Given the description of an element on the screen output the (x, y) to click on. 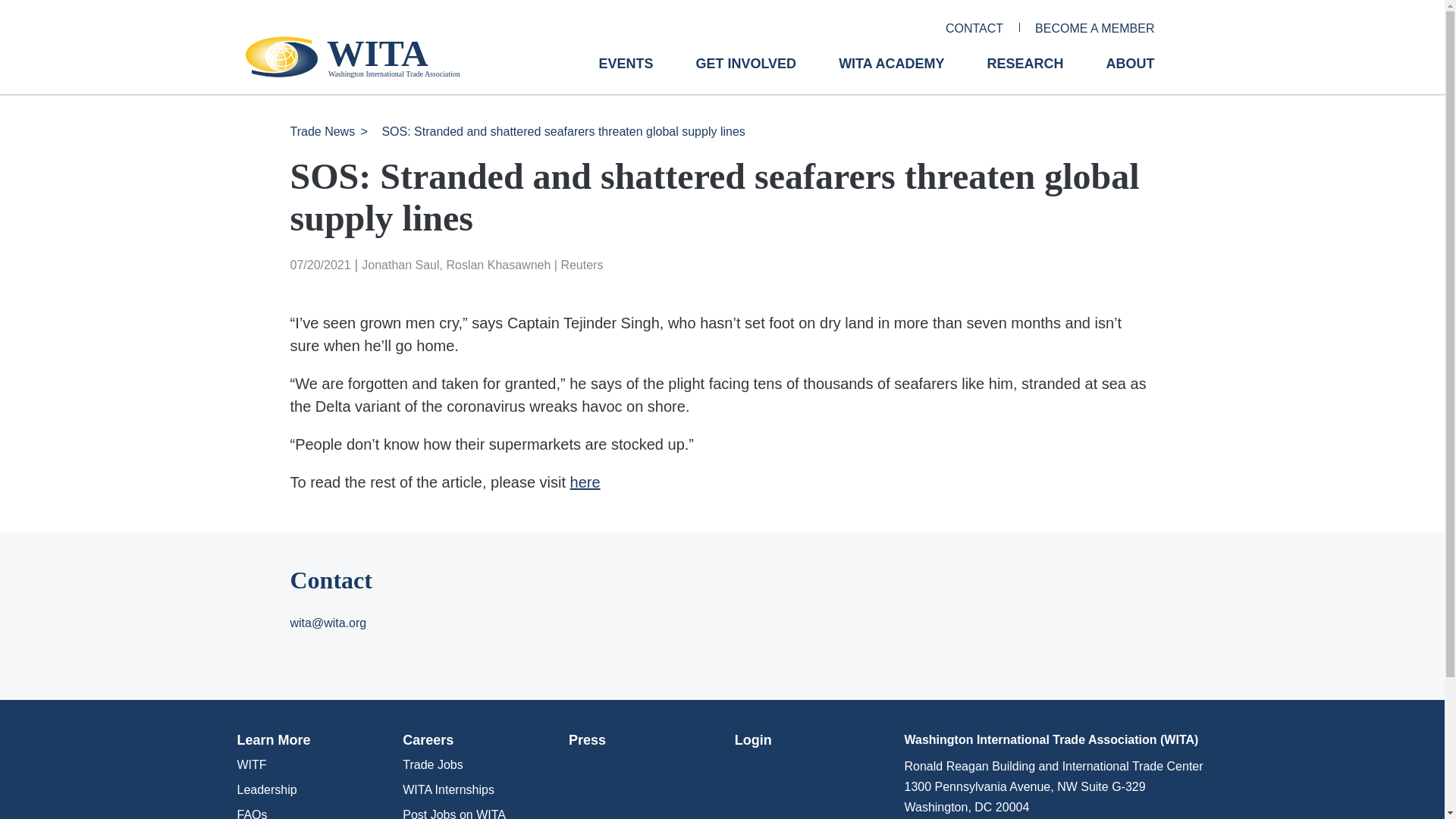
Trade News (322, 131)
Search (19, 6)
here (584, 482)
ABOUT (1129, 75)
WITA ACADEMY (890, 75)
GET INVOLVED (745, 75)
BECOME A MEMBER (1094, 28)
RESEARCH (1024, 75)
EVENTS (625, 75)
CONTACT (973, 28)
